Given the description of an element on the screen output the (x, y) to click on. 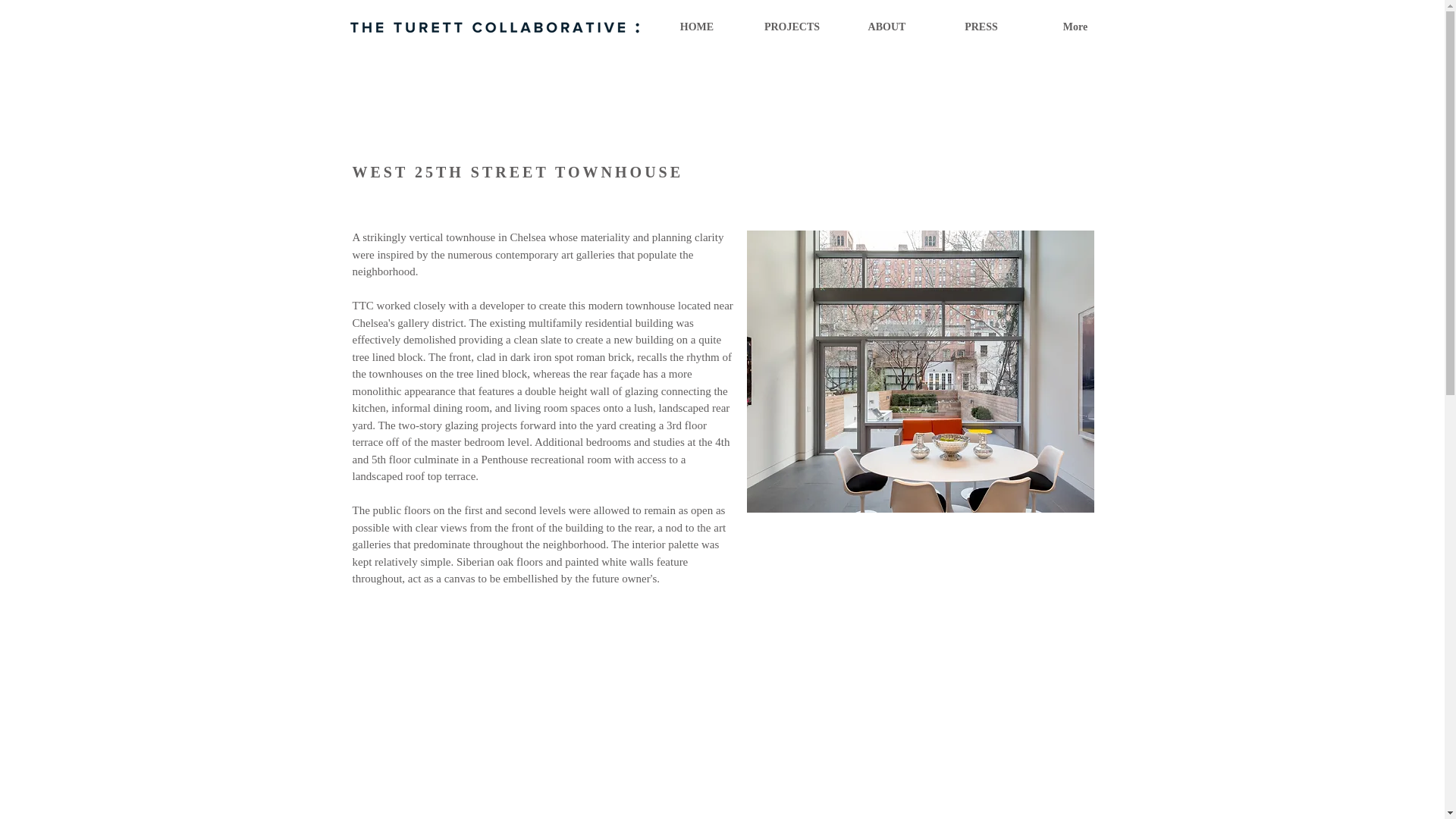
PROJECTS (792, 26)
PRESS (980, 26)
HOME (696, 26)
ABOUT (885, 26)
